Given the description of an element on the screen output the (x, y) to click on. 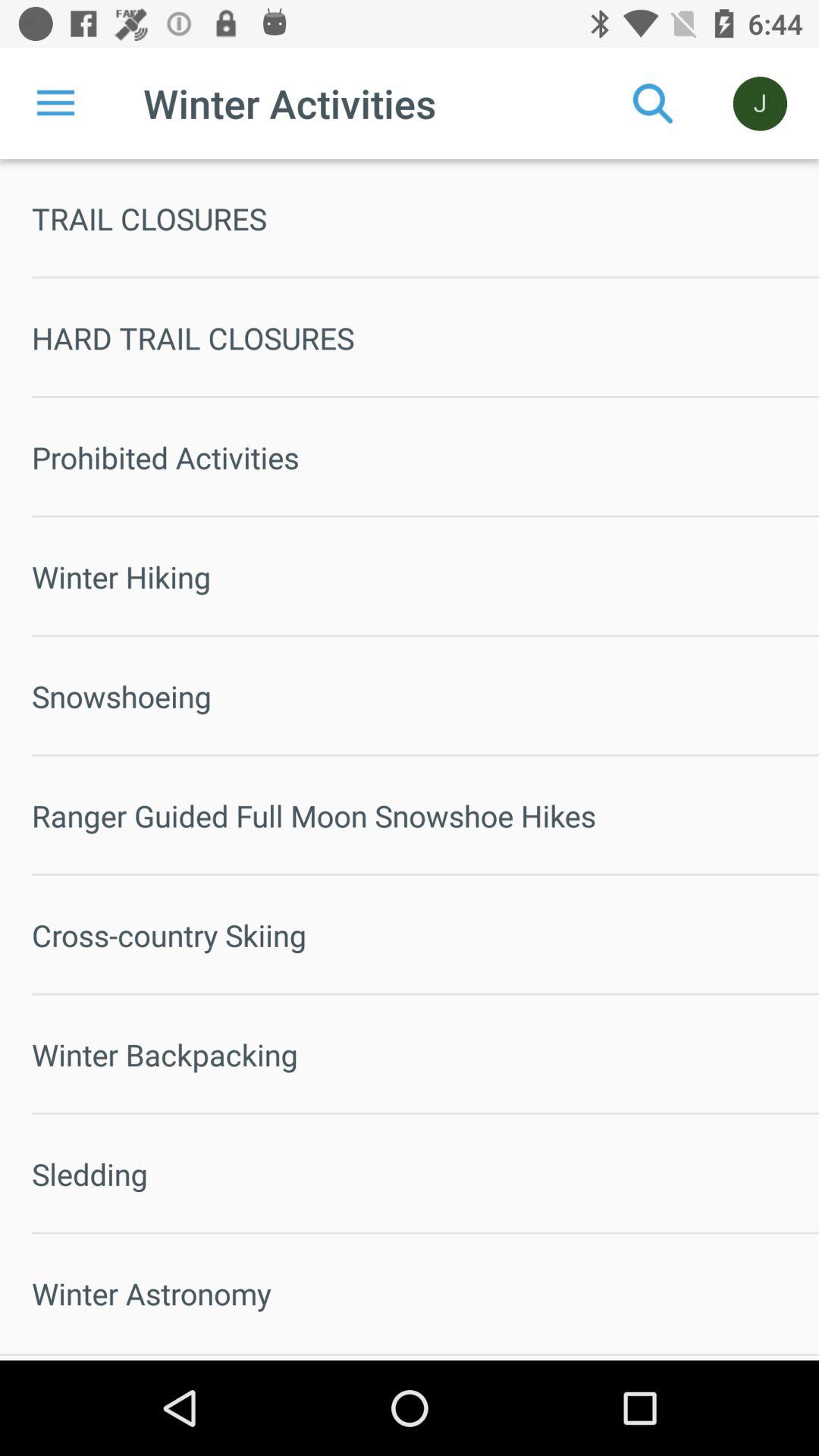
turn on the prohibited activities item (425, 457)
